Given the description of an element on the screen output the (x, y) to click on. 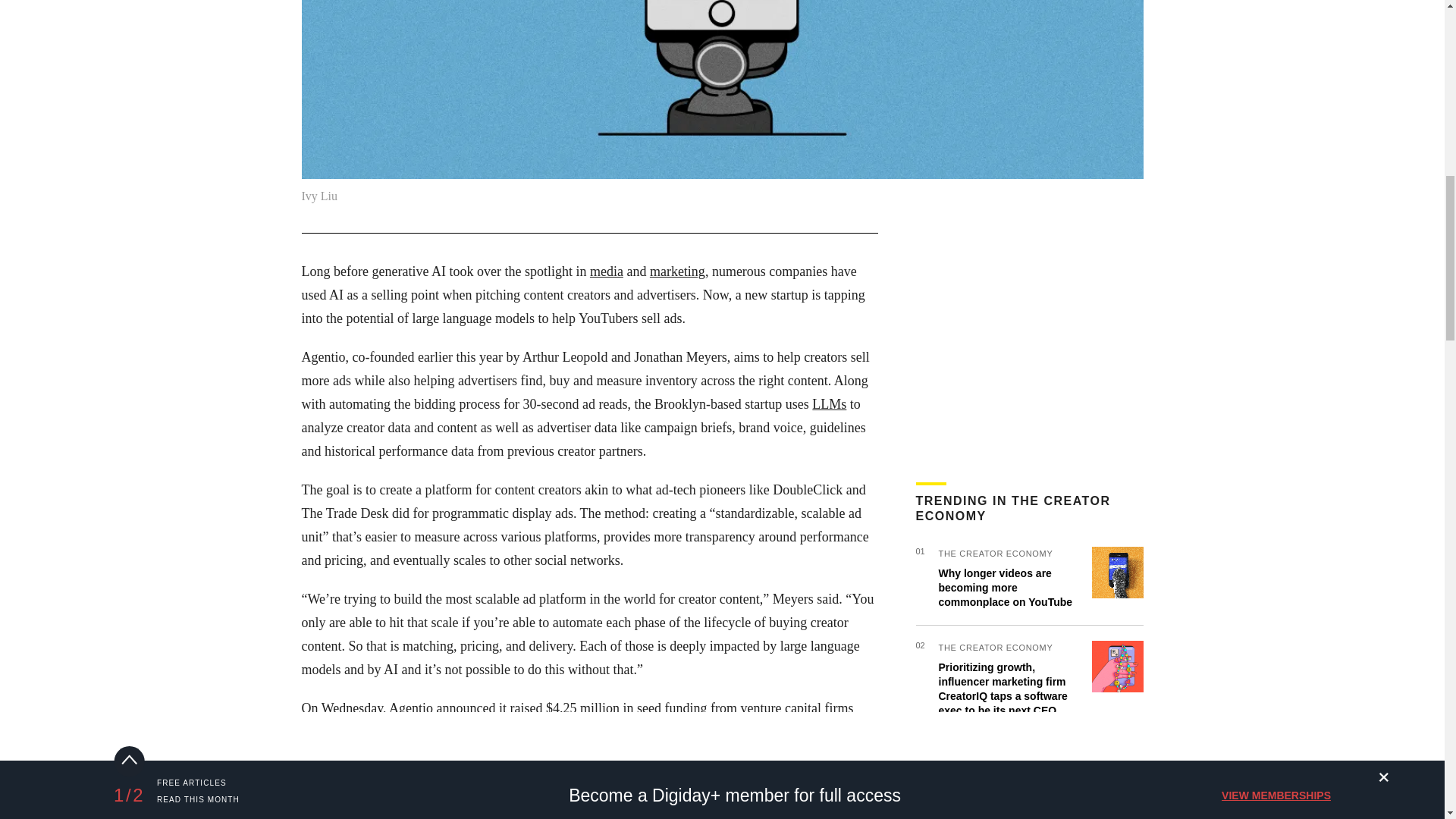
Why longer videos are becoming more commonplace on YouTube (1006, 587)
